Given the description of an element on the screen output the (x, y) to click on. 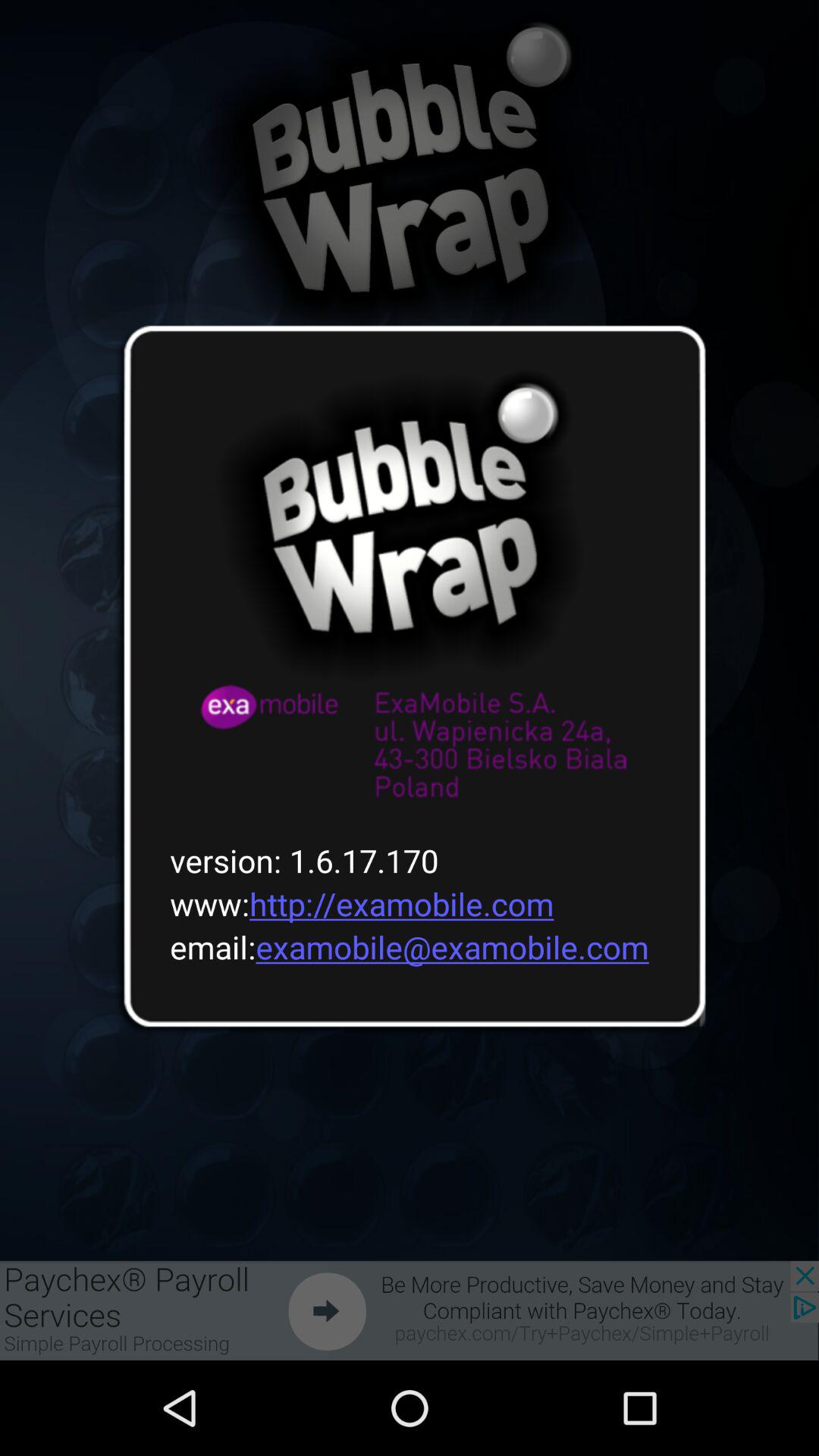
jump to the www http examobile item (351, 903)
